Given the description of an element on the screen output the (x, y) to click on. 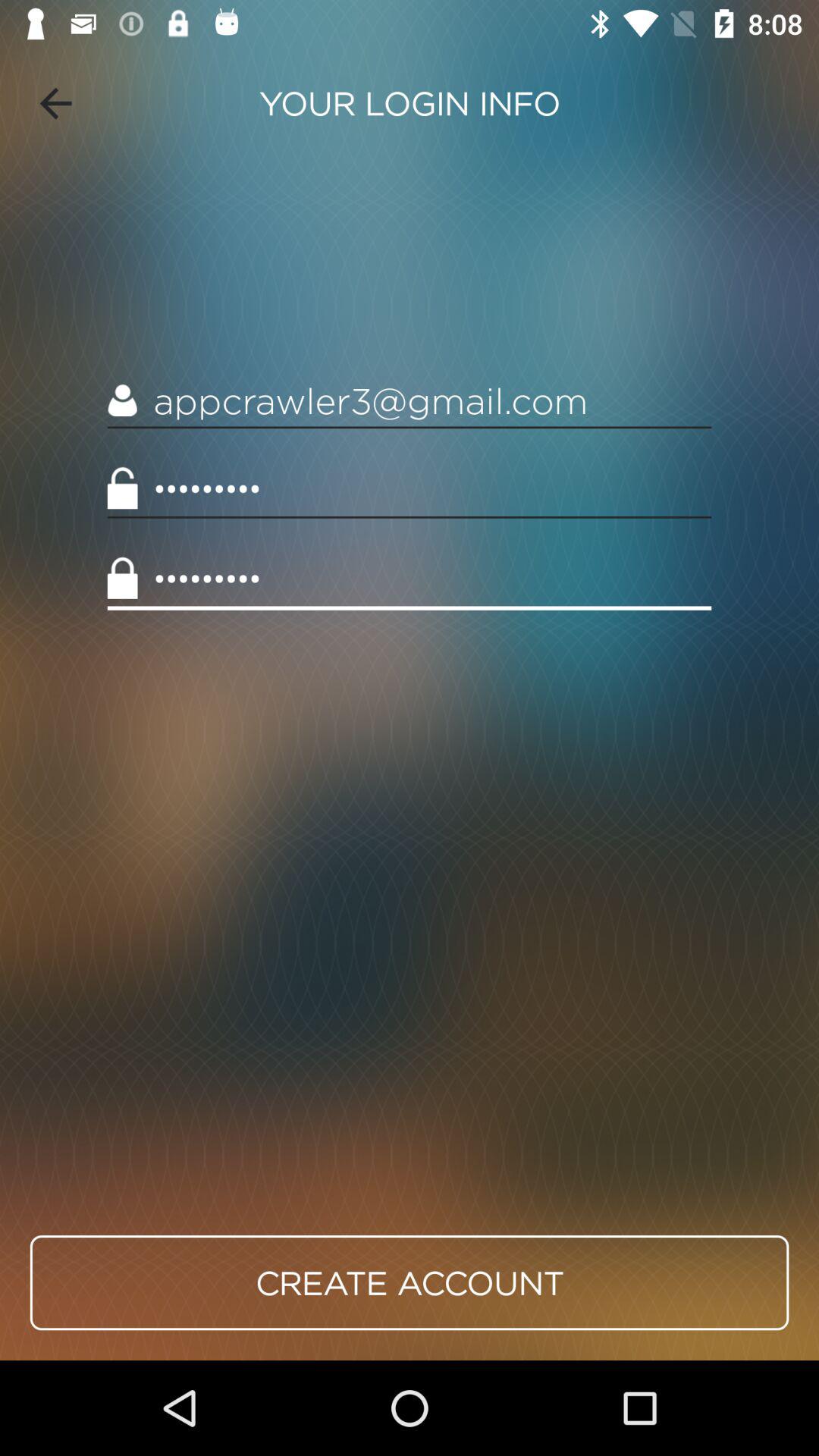
press the item above crowd3116 (409, 401)
